Given the description of an element on the screen output the (x, y) to click on. 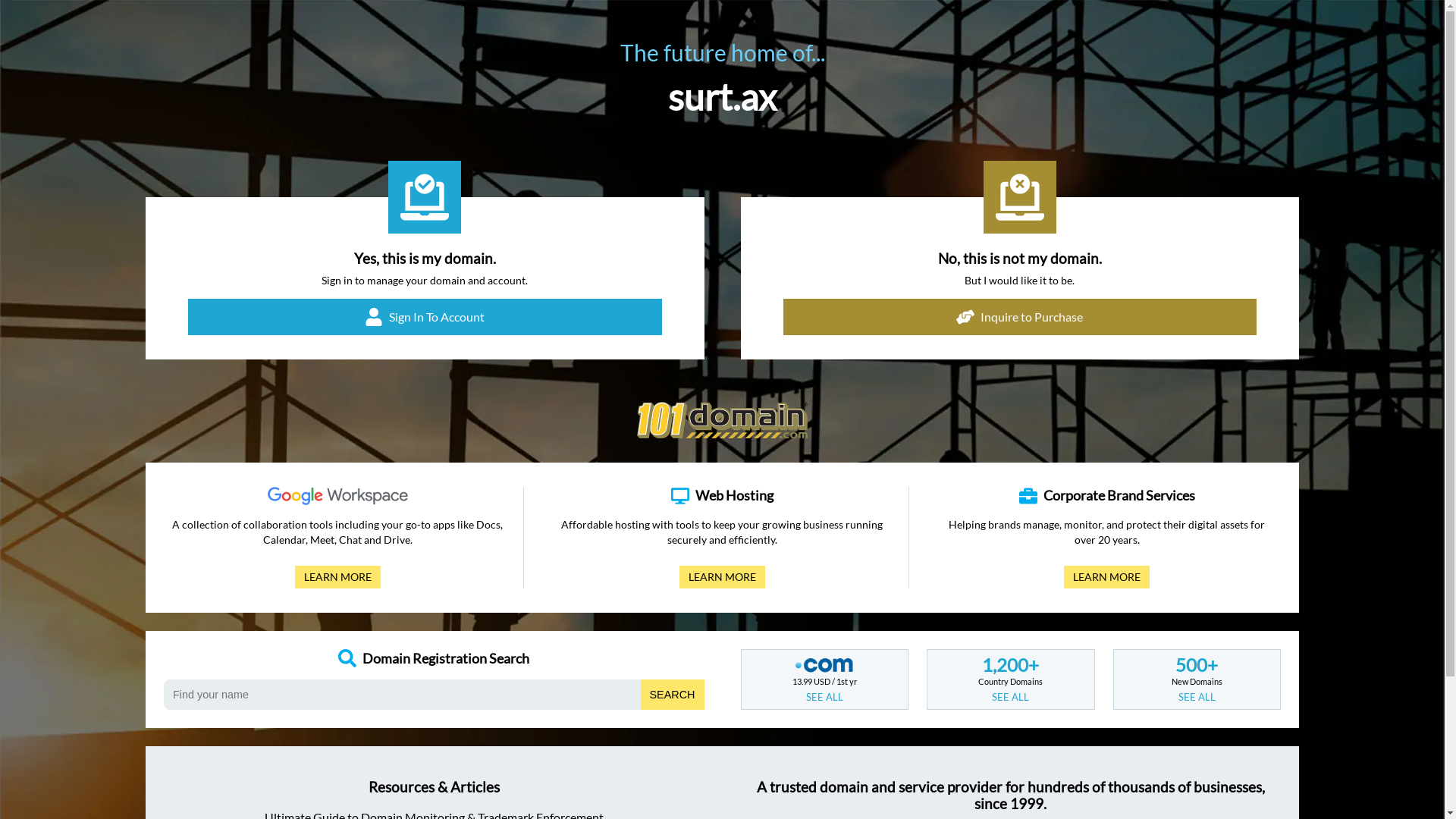
SEE ALL Element type: text (1196, 696)
SEE ALL Element type: text (1010, 696)
Inquire to Purchase Element type: text (1019, 316)
LEARN MORE Element type: text (1106, 576)
SEE ALL Element type: text (824, 696)
LEARN MORE Element type: text (722, 576)
Sign In To Account Element type: text (425, 316)
SEARCH Element type: text (672, 694)
LEARN MORE Element type: text (337, 576)
